Given the description of an element on the screen output the (x, y) to click on. 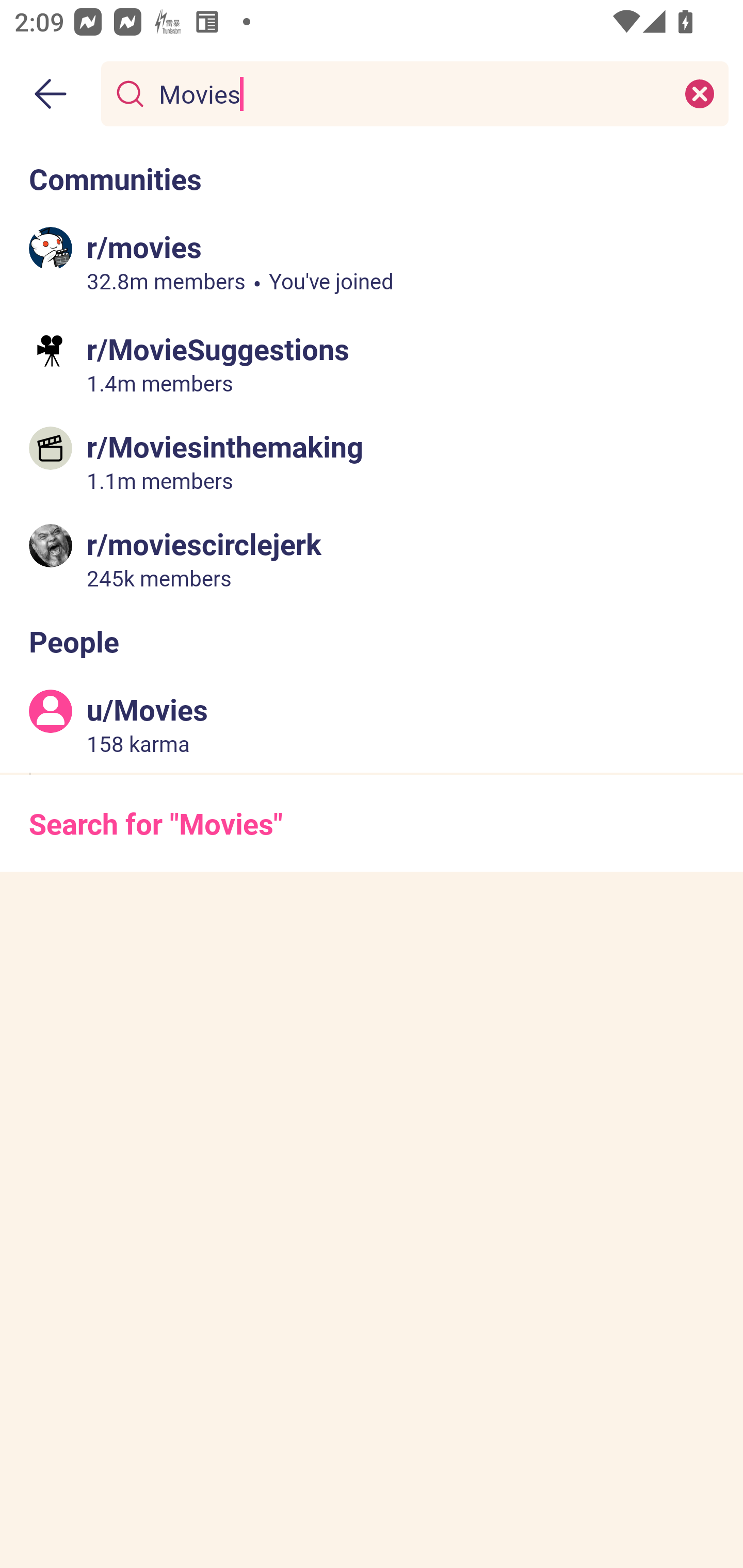
Back (50, 93)
Movies (410, 93)
Clear search (699, 93)
u/Movies 158 karma 158 karma (371, 724)
Search for "Movies" (371, 822)
